Given the description of an element on the screen output the (x, y) to click on. 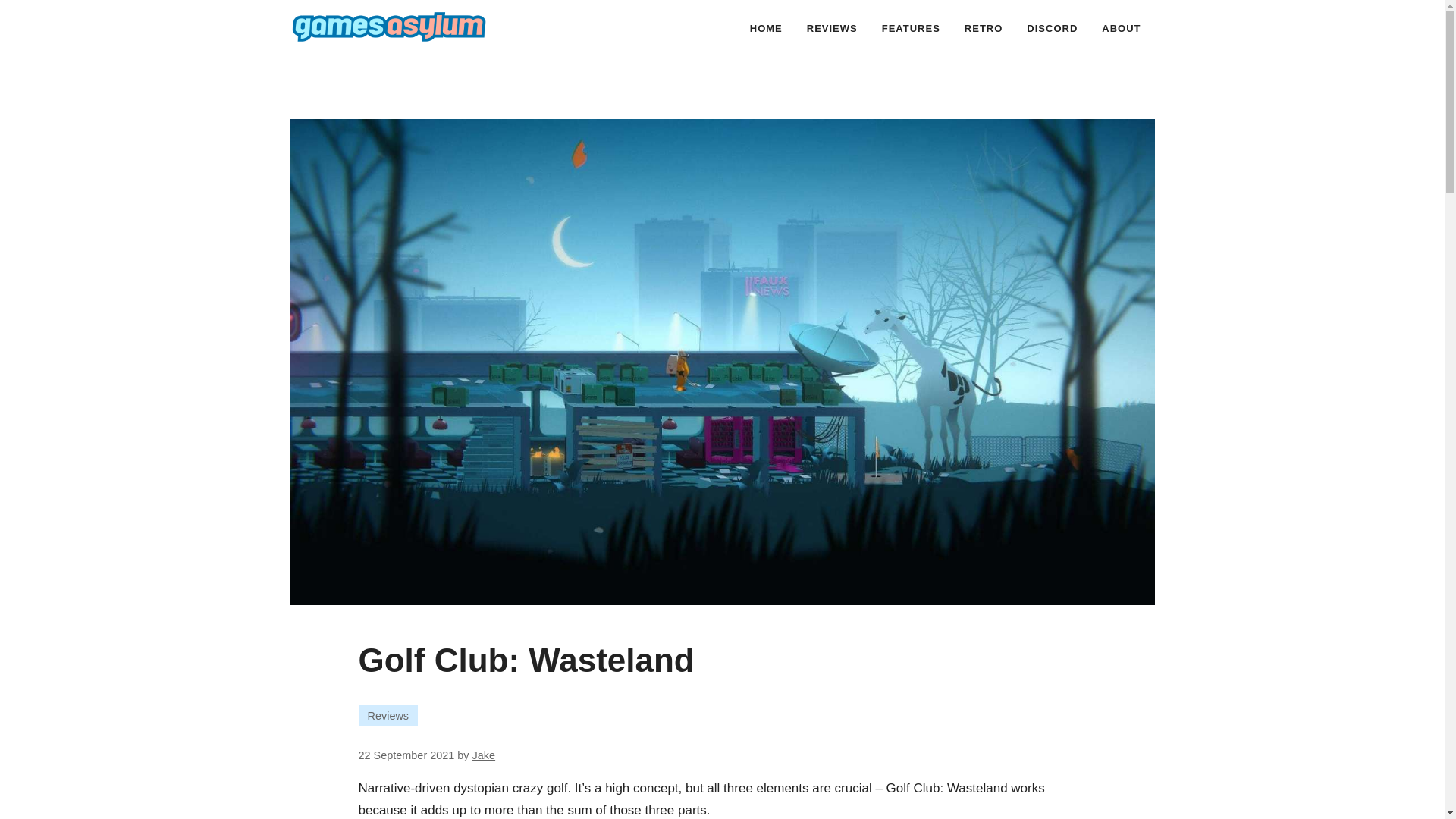
Jake (483, 755)
ABOUT (1121, 28)
Reviews (387, 715)
FEATURES (910, 28)
REVIEWS (831, 28)
HOME (766, 28)
DISCORD (1051, 28)
RETRO (983, 28)
View all posts by Jake (483, 755)
